Given the description of an element on the screen output the (x, y) to click on. 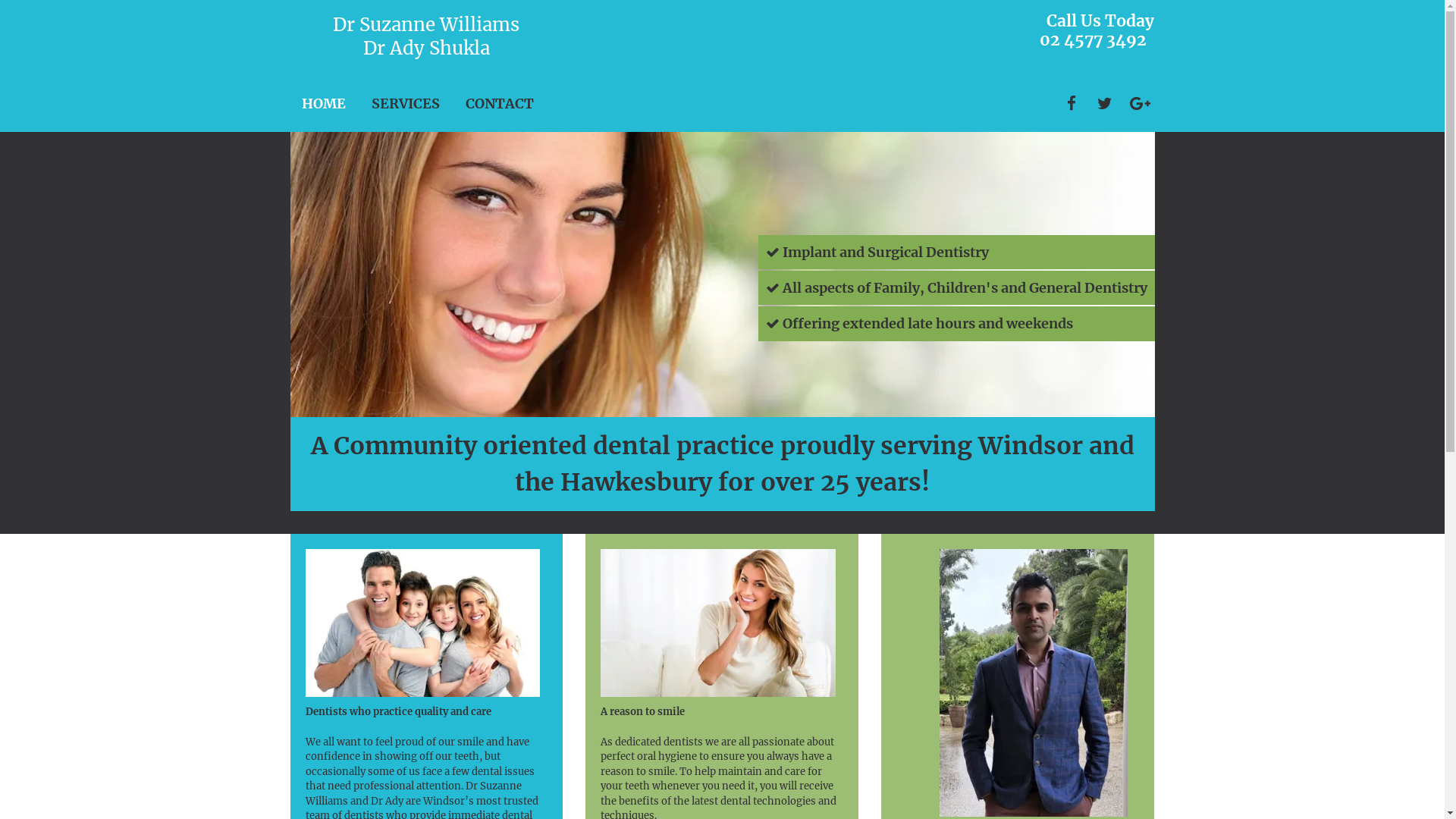
CONTACT Element type: text (499, 103)
HOME Element type: text (323, 103)
SERVICES Element type: text (405, 103)
beautiful woman Element type: hover (721, 274)
smiling woman Element type: hover (717, 622)
happy family Element type: hover (421, 622)
02 4577 3492 Element type: text (1092, 39)
